Given the description of an element on the screen output the (x, y) to click on. 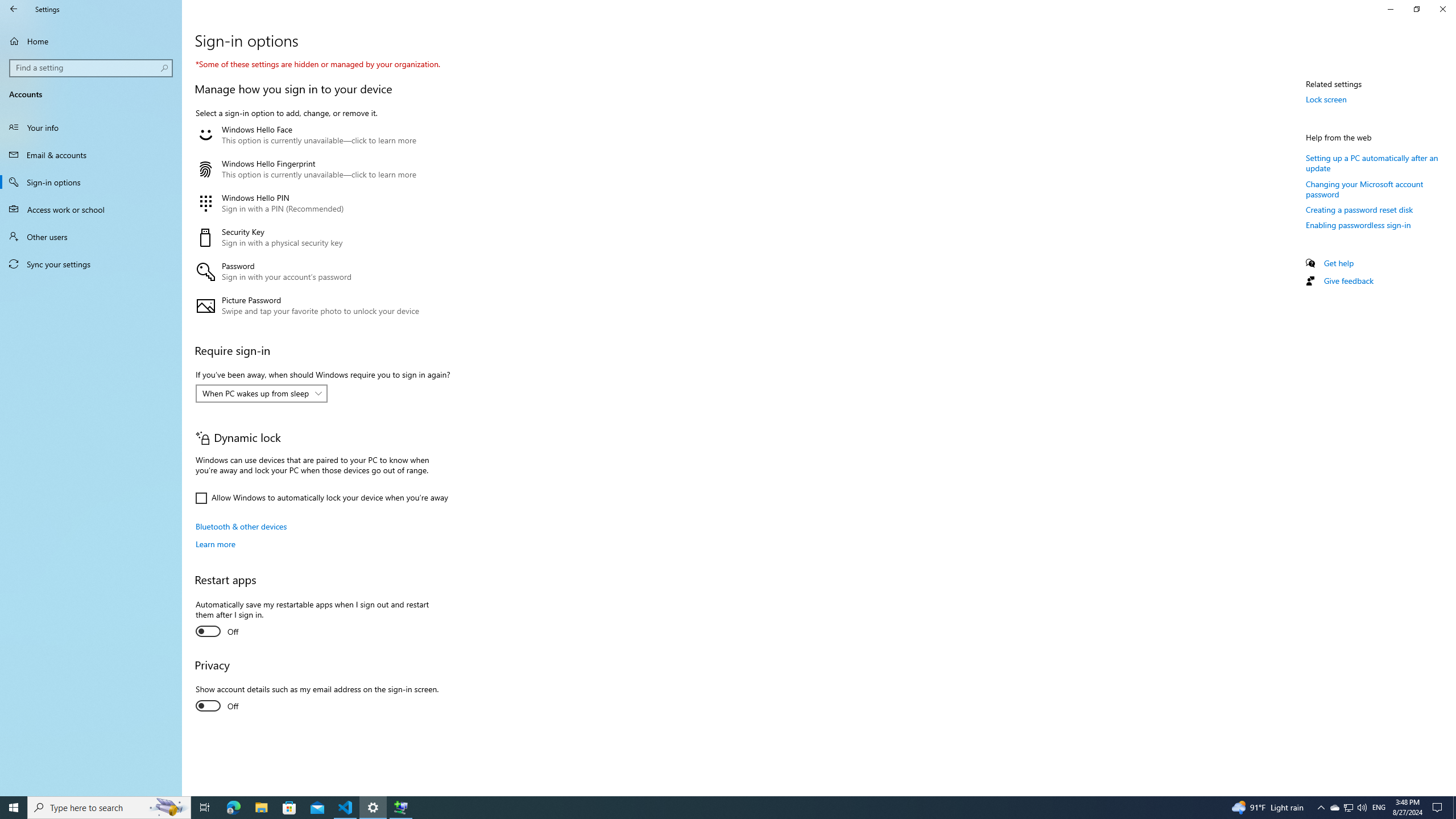
Home (91, 40)
Tray Input Indicator - English (United States) (1378, 807)
Extensible Wizards Host Process - 1 running window (400, 807)
Setting up a PC automatically after an update (1372, 162)
Creating a password reset disk (1359, 208)
Email & accounts (91, 154)
Get help (1338, 262)
